Given the description of an element on the screen output the (x, y) to click on. 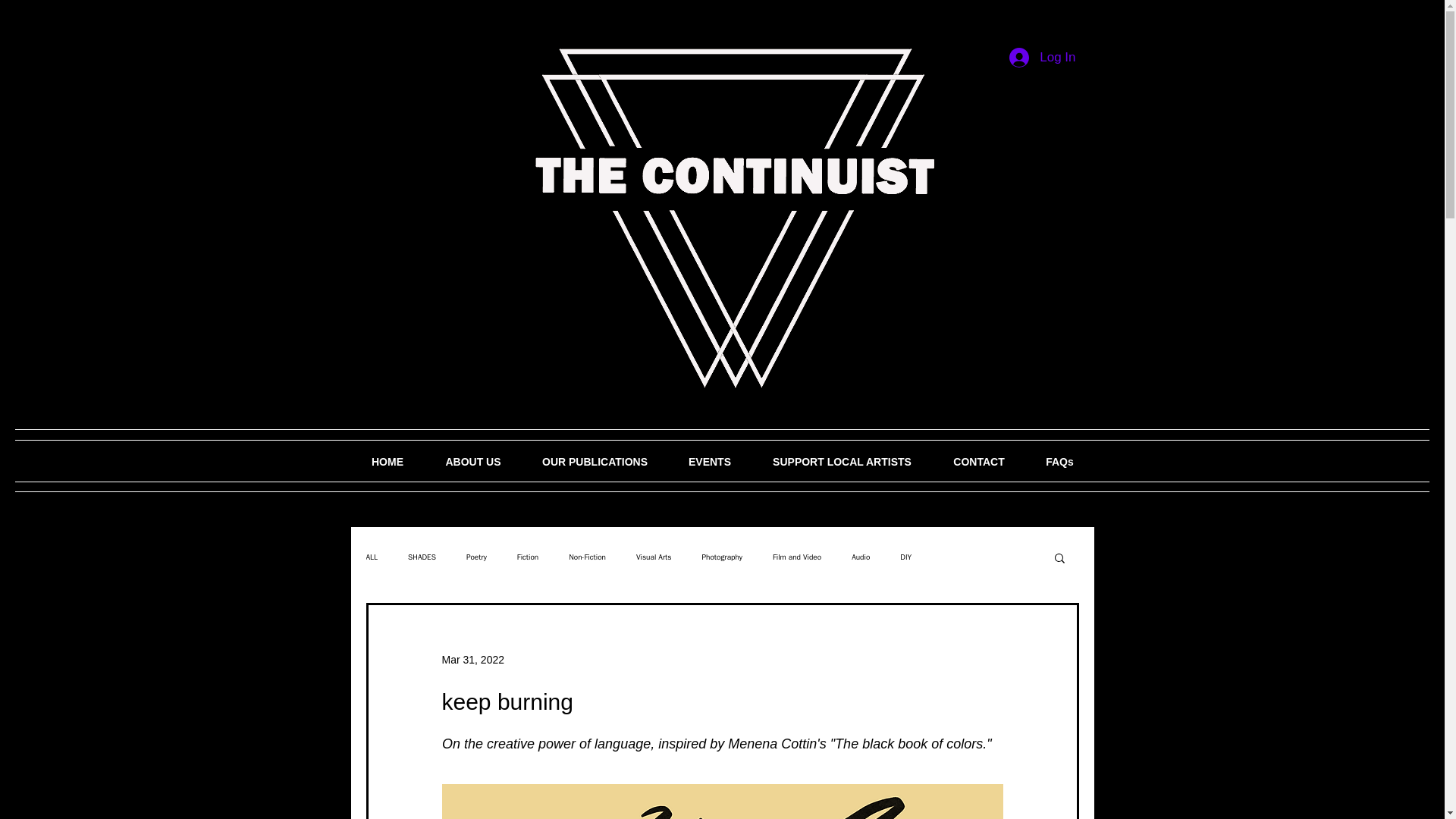
FAQs (1059, 461)
CONTACT (979, 461)
Fiction (527, 557)
Non-Fiction (587, 557)
Poetry (475, 557)
Visual Arts (653, 557)
SUPPORT LOCAL ARTISTS (842, 461)
SHADES (421, 557)
Photography (721, 557)
Film and Video (797, 557)
Log In (1042, 57)
DIY (905, 557)
HOME (386, 461)
Audio (860, 557)
ABOUT US (473, 461)
